Given the description of an element on the screen output the (x, y) to click on. 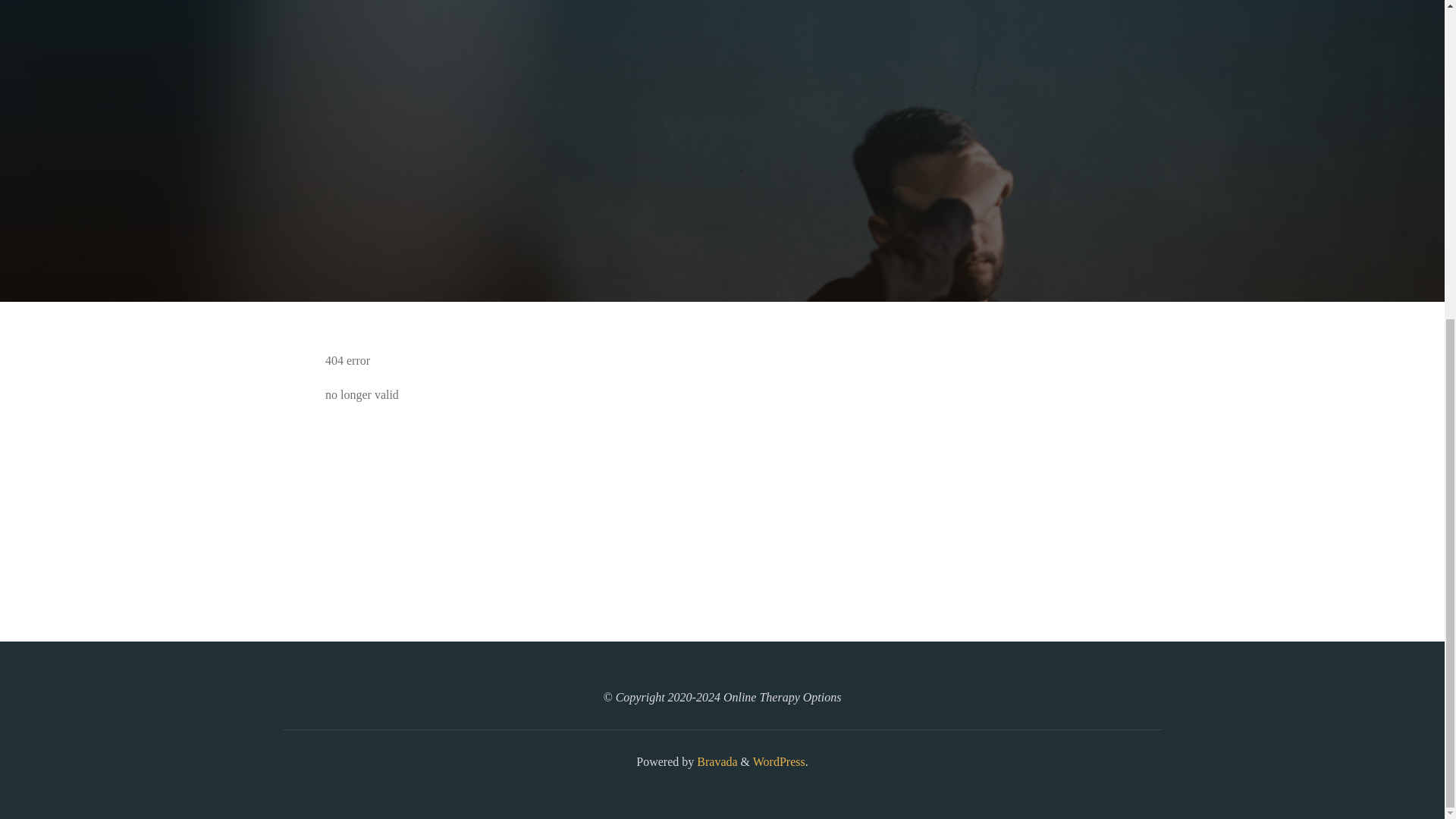
Bravada WordPress Theme by Cryout Creations (715, 761)
Read more (721, 207)
WordPress (778, 761)
Semantic Personal Publishing Platform (778, 761)
Bravada (715, 761)
